Given the description of an element on the screen output the (x, y) to click on. 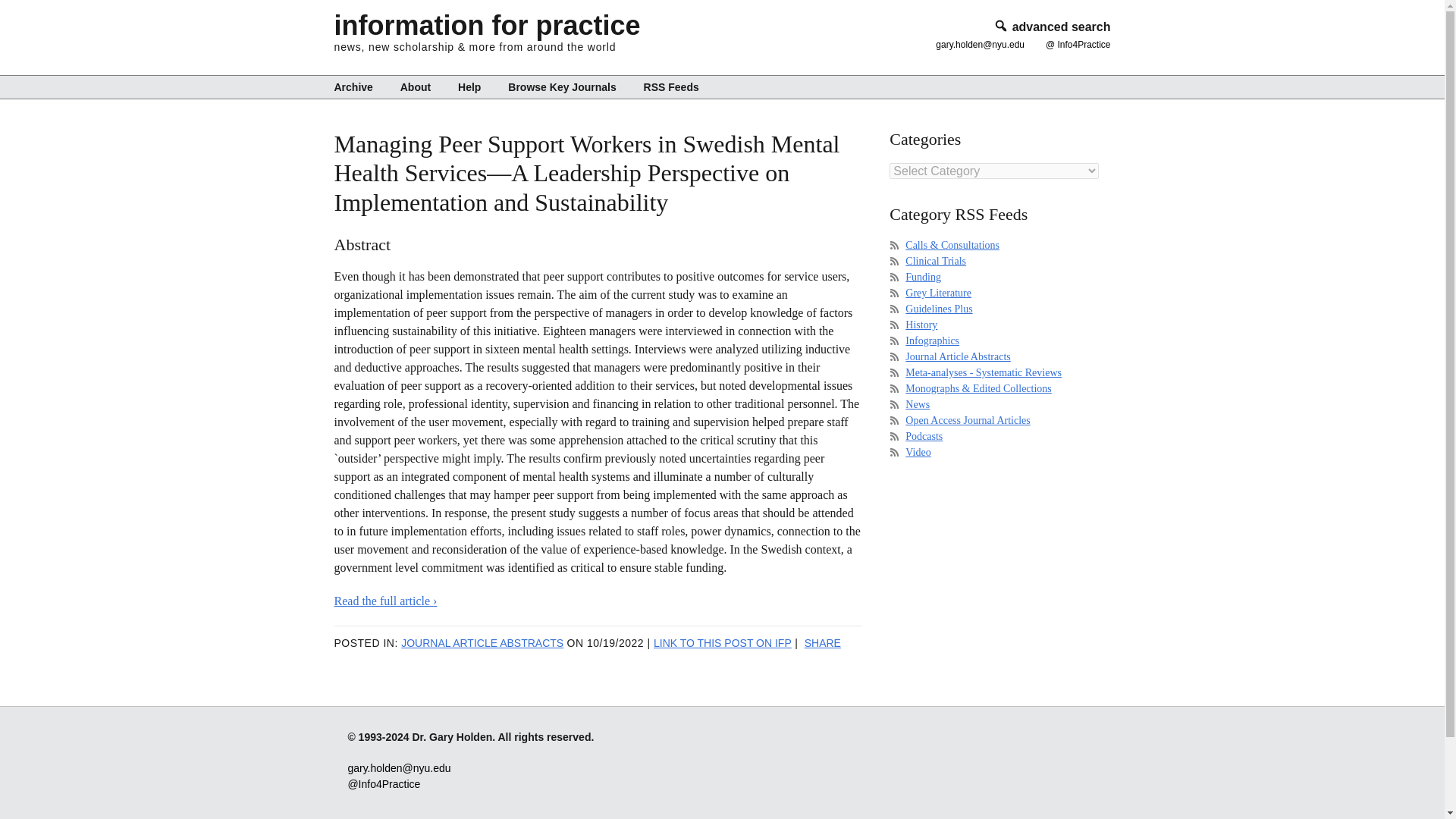
Archive (358, 87)
Video (917, 451)
Browse Key Journals (561, 87)
Infographics (932, 340)
JOURNAL ARTICLE ABSTRACTS (482, 643)
Help (469, 87)
Guidelines Plus (938, 308)
Grey Literature (938, 292)
Meta-analyses - Systematic Reviews (983, 372)
Journal Article Abstracts (957, 356)
Podcasts (923, 436)
History (921, 324)
News (917, 404)
information for practice (486, 24)
